Given the description of an element on the screen output the (x, y) to click on. 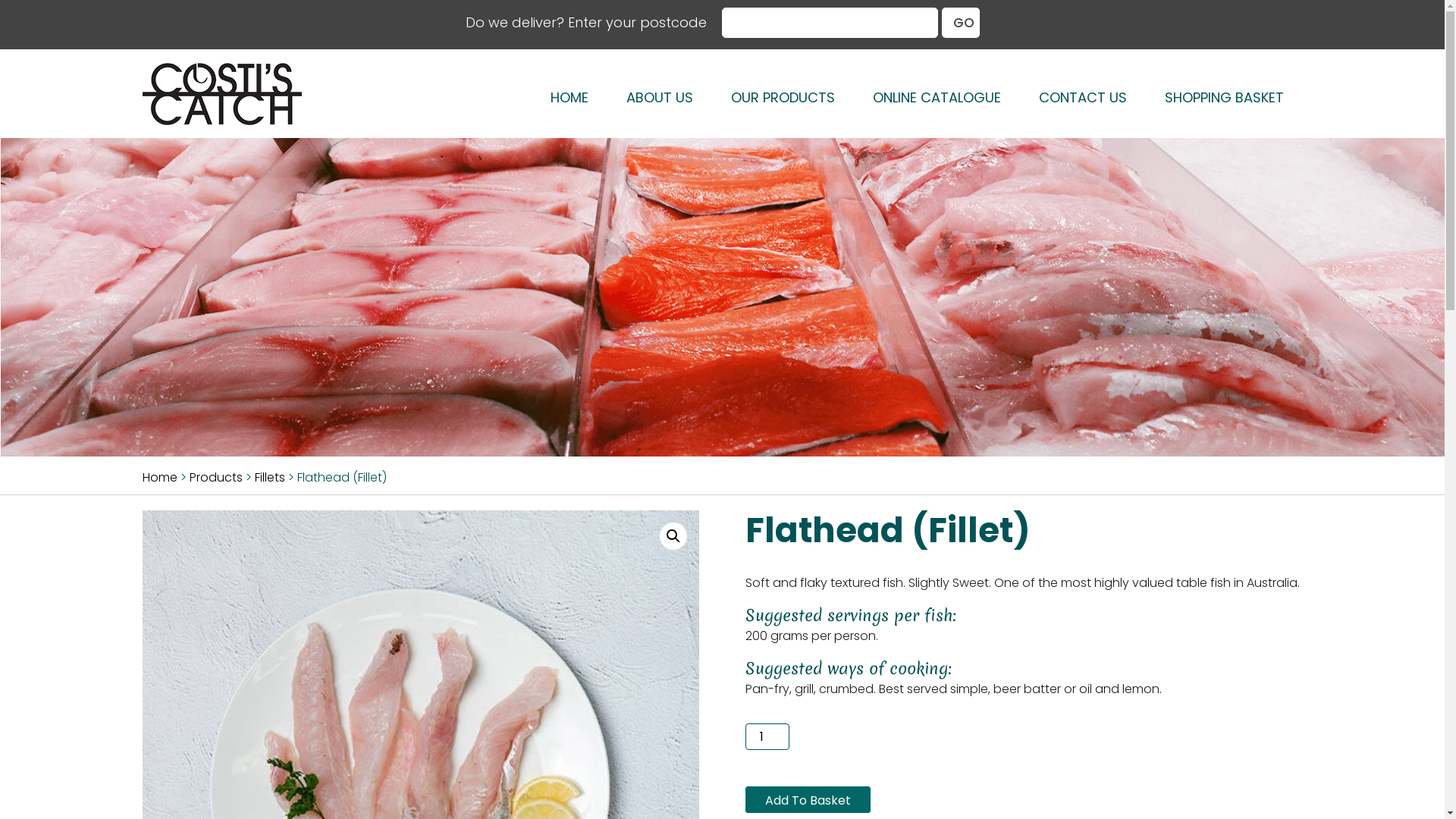
Fillets Element type: text (269, 477)
GO Element type: text (960, 22)
Home Element type: text (159, 477)
OUR PRODUCTS Element type: text (782, 97)
Products Element type: text (215, 477)
Qty Element type: hover (767, 736)
Add To Basket Element type: text (807, 799)
ABOUT US Element type: text (658, 97)
ONLINE CATALOGUE Element type: text (936, 97)
HOME Element type: text (568, 97)
SHOPPING BASKET Element type: text (1223, 97)
CONTACT US Element type: text (1082, 97)
